Given the description of an element on the screen output the (x, y) to click on. 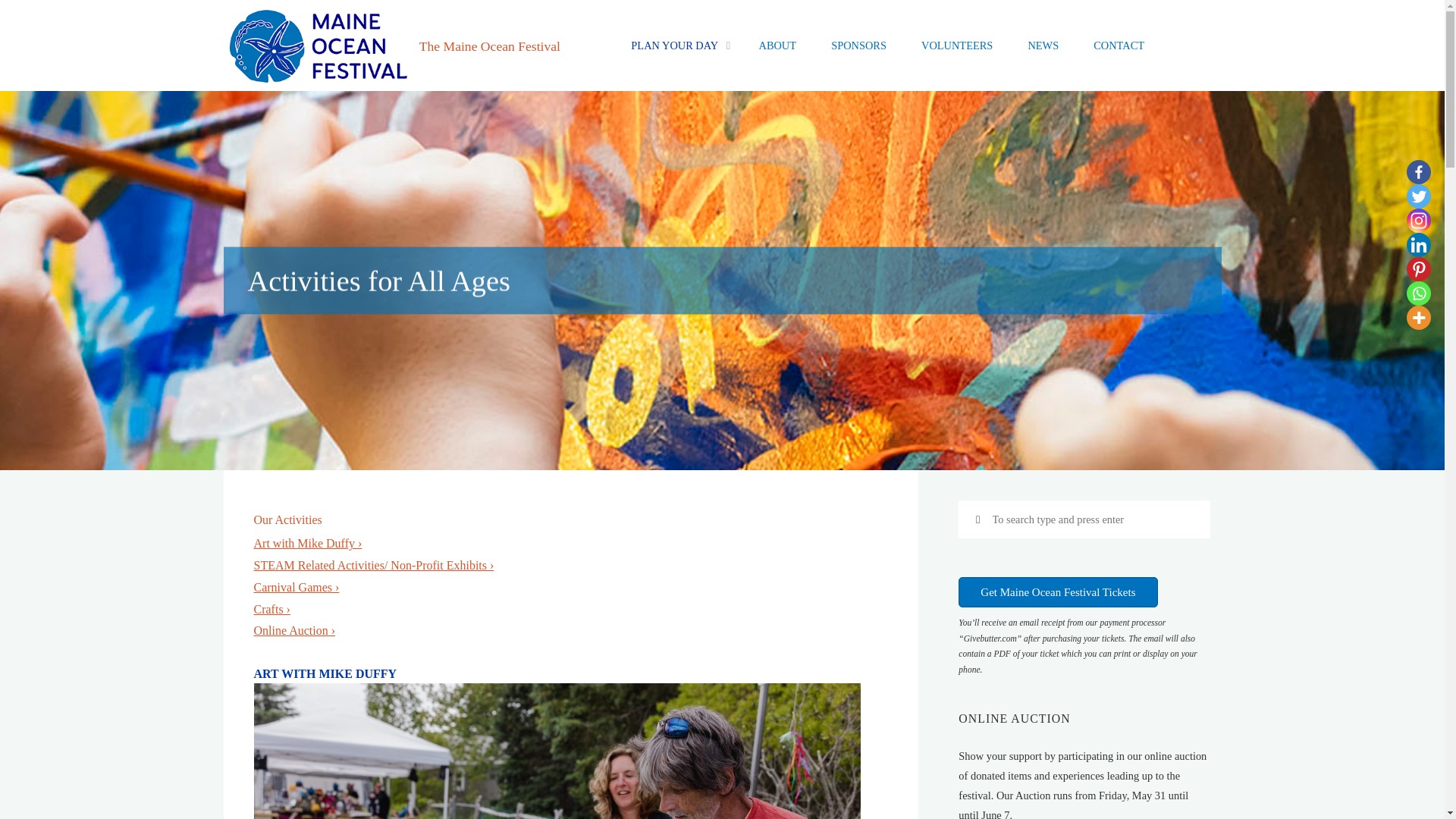
Pinterest (1418, 269)
NEWS (1042, 45)
Whatsapp (1418, 293)
Linkedin (1418, 244)
SPONSORS (858, 45)
Facebook (1418, 171)
More (1418, 317)
The Maine Ocean Festival (489, 46)
PLAN YOUR DAY (676, 45)
Celebrate the Gulf of Maine (489, 46)
Instagram (1418, 220)
Twitter (1418, 196)
ABOUT (777, 45)
The Maine Ocean Festival (317, 44)
VOLUNTEERS (957, 45)
